Given the description of an element on the screen output the (x, y) to click on. 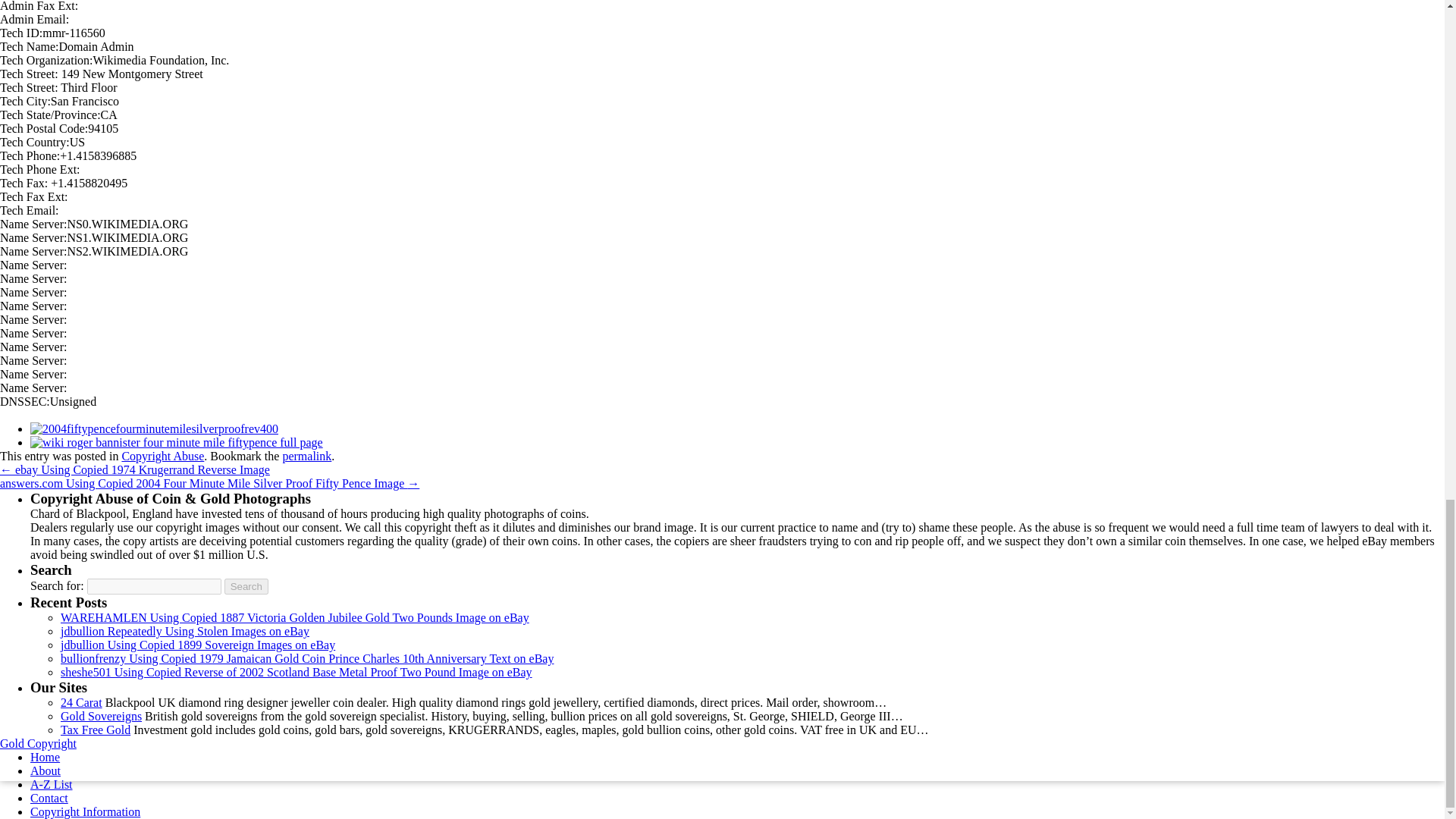
jdbullion Repeatedly Using Stolen Images on eBay (184, 631)
Search (245, 586)
24 Carat (81, 702)
Tax Free Gold (96, 729)
permalink (306, 455)
Gold Copyright (38, 743)
2004fiftypencefourminutemilesilverproofrev400 (154, 428)
wiki roger bannister four minute mile fiftypence full page (176, 441)
Gold Sovereigns (101, 716)
Copyright Abuse (161, 455)
Search (245, 586)
jdbullion Using Copied 1899 Sovereign Images on eBay (197, 644)
